Given the description of an element on the screen output the (x, y) to click on. 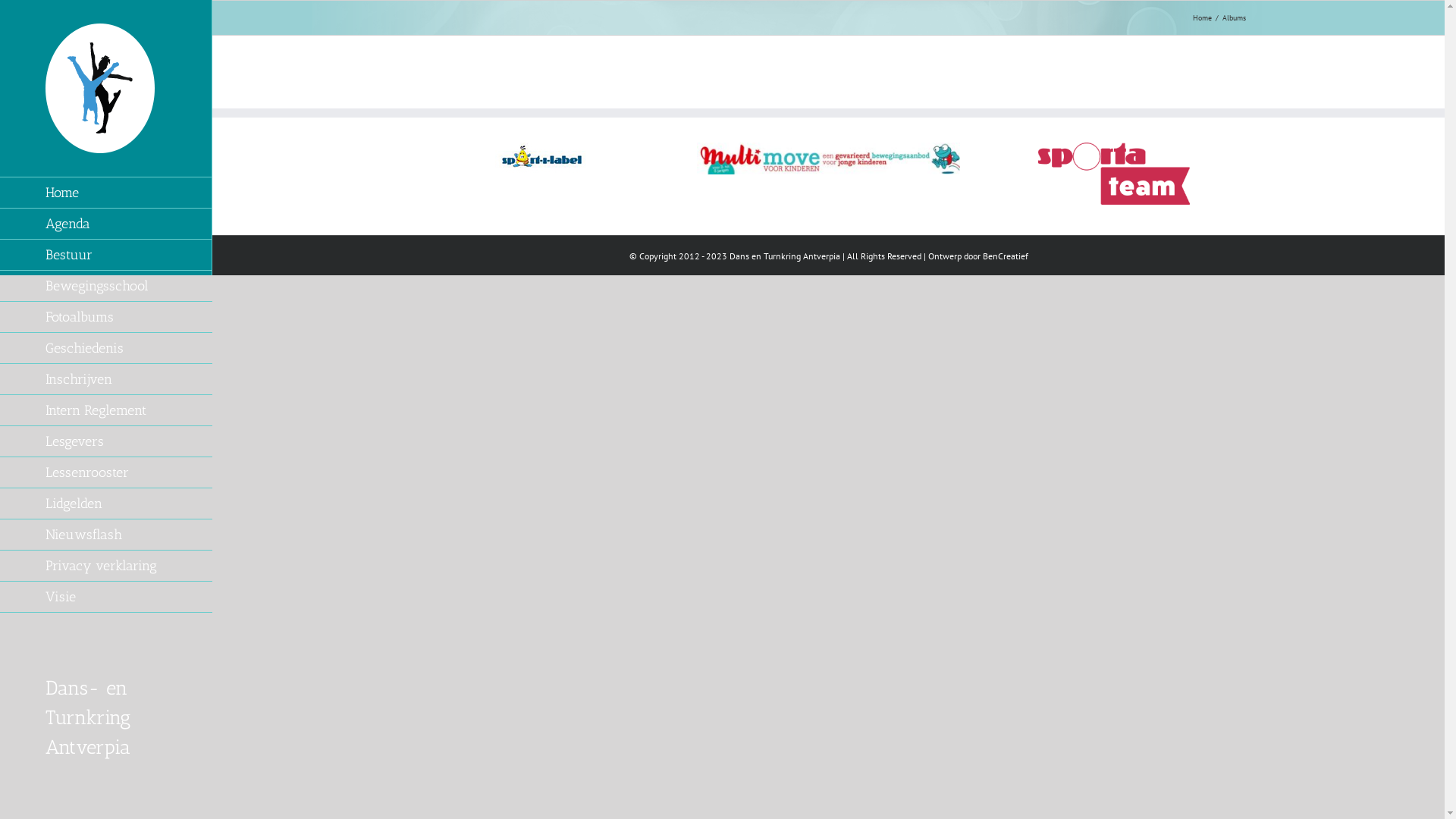
BenCreatief Element type: text (1005, 255)
Fotoalbums Element type: text (106, 316)
Lessenrooster Element type: text (106, 472)
Lesgevers Element type: text (106, 441)
Intern Reglement Element type: text (106, 410)
Agenda Element type: text (106, 223)
Bestuur Element type: text (106, 254)
Privacy verklaring Element type: text (106, 565)
Nieuwsflash Element type: text (106, 534)
Visie Element type: text (106, 596)
Bewegingsschool Element type: text (106, 285)
Home Element type: text (1201, 17)
Geschiedenis Element type: text (106, 348)
Inschrijven Element type: text (106, 379)
Home Element type: text (106, 192)
Lidgelden Element type: text (106, 503)
